Given the description of an element on the screen output the (x, y) to click on. 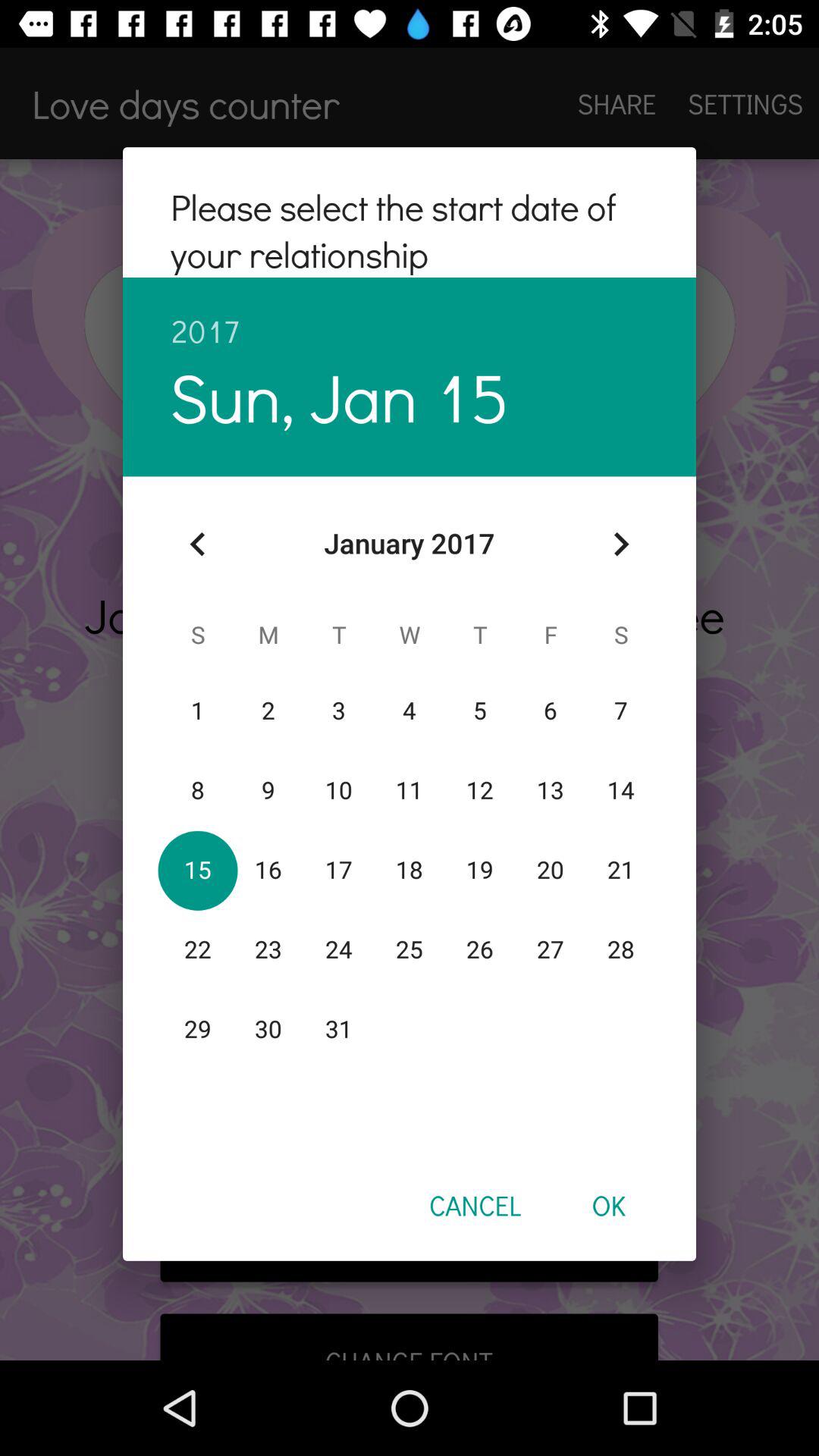
flip until cancel (474, 1204)
